Given the description of an element on the screen output the (x, y) to click on. 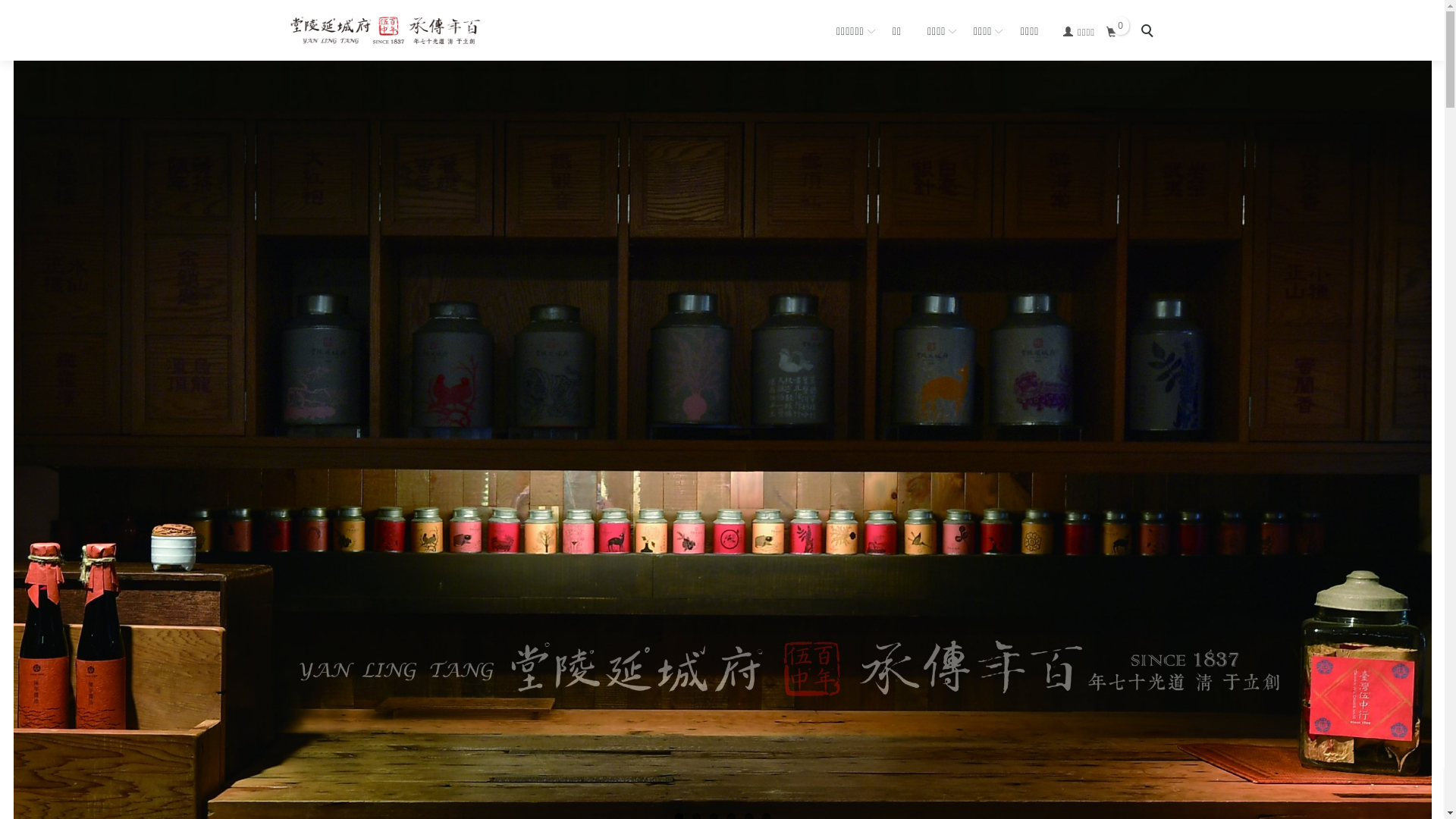
0 Element type: text (1111, 32)
